Given the description of an element on the screen output the (x, y) to click on. 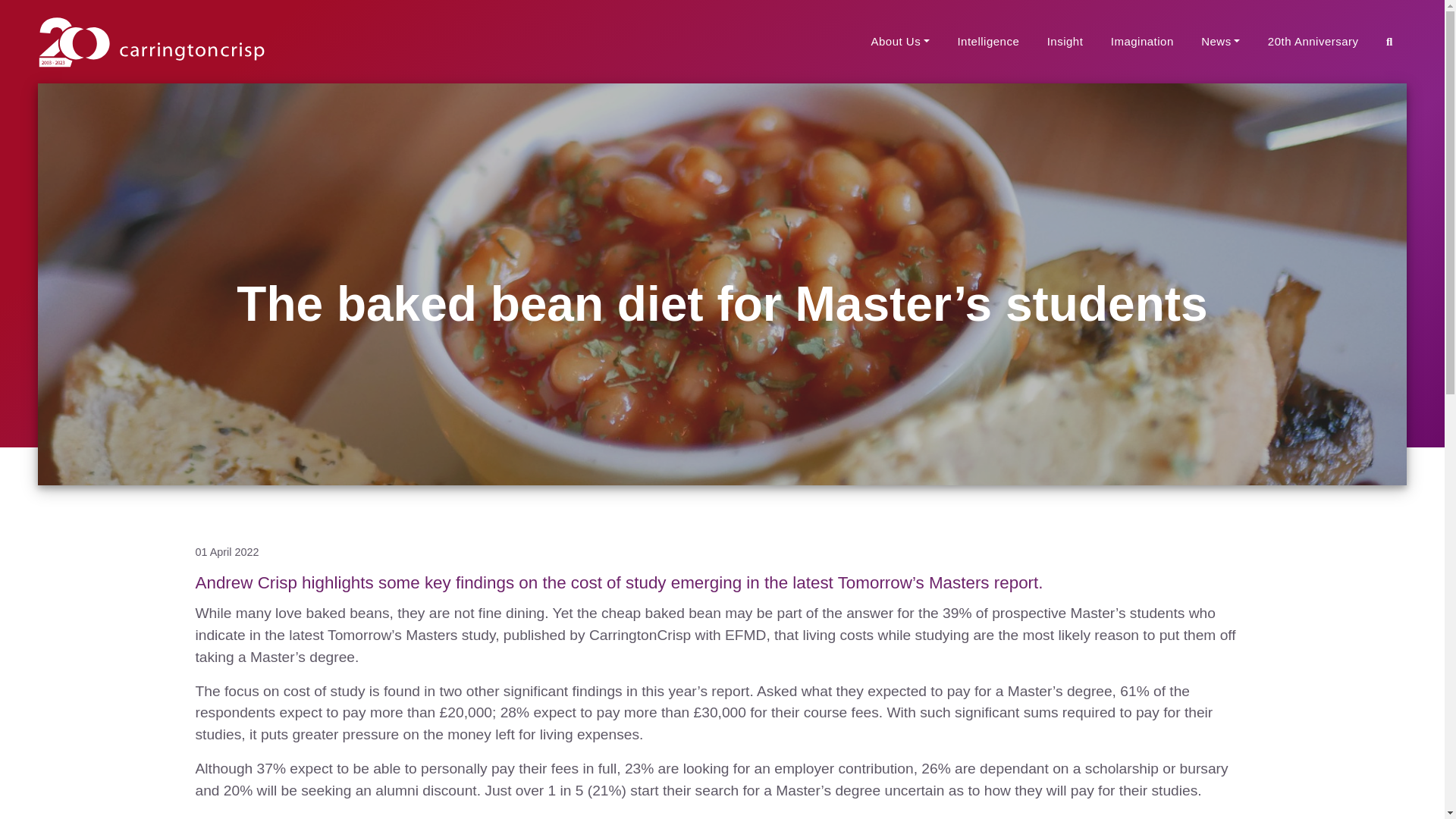
Intelligence (988, 41)
About Us (899, 41)
20th Anniversary (1312, 41)
Imagination (1141, 41)
News (1220, 41)
Insight (1064, 41)
